Given the description of an element on the screen output the (x, y) to click on. 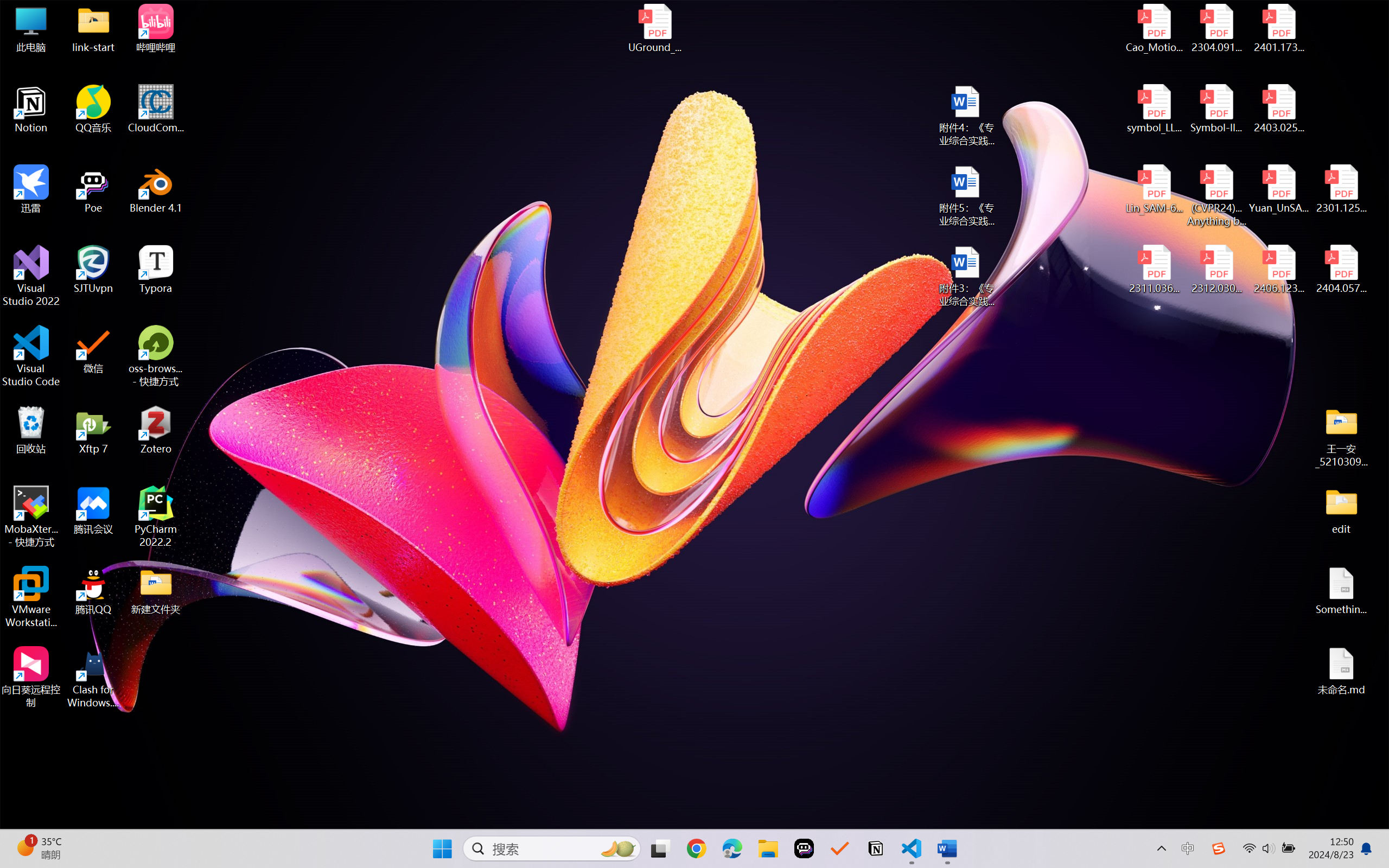
2404.05719v1.pdf (1340, 269)
edit (1340, 510)
PyCharm 2022.2 (156, 516)
Symbol-llm-v2.pdf (1216, 109)
Something.md (1340, 591)
2304.09121v3.pdf (1216, 28)
2312.03032v2.pdf (1216, 269)
2401.17399v1.pdf (1278, 28)
